Given the description of an element on the screen output the (x, y) to click on. 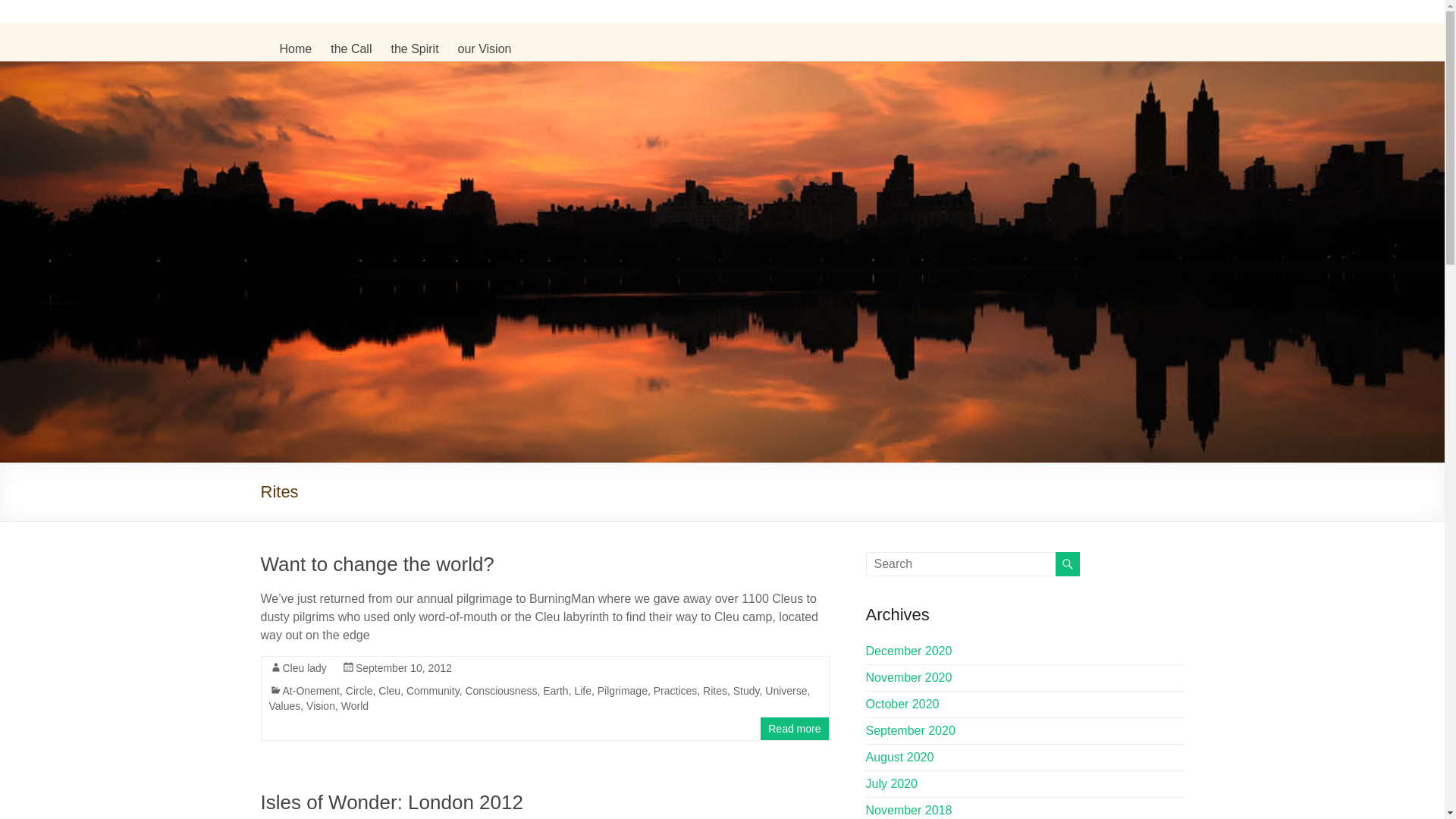
Study (746, 690)
Home (295, 48)
Consciousness (500, 690)
7:46 pm (403, 667)
September 10, 2012 (403, 667)
the Spirit (414, 48)
Cleu (389, 690)
the Call (350, 48)
Want to change the world? (377, 563)
theCleu (306, 30)
Rites (714, 690)
theCleu (306, 30)
our Vision (485, 48)
Community (433, 690)
Universe (785, 690)
